Given the description of an element on the screen output the (x, y) to click on. 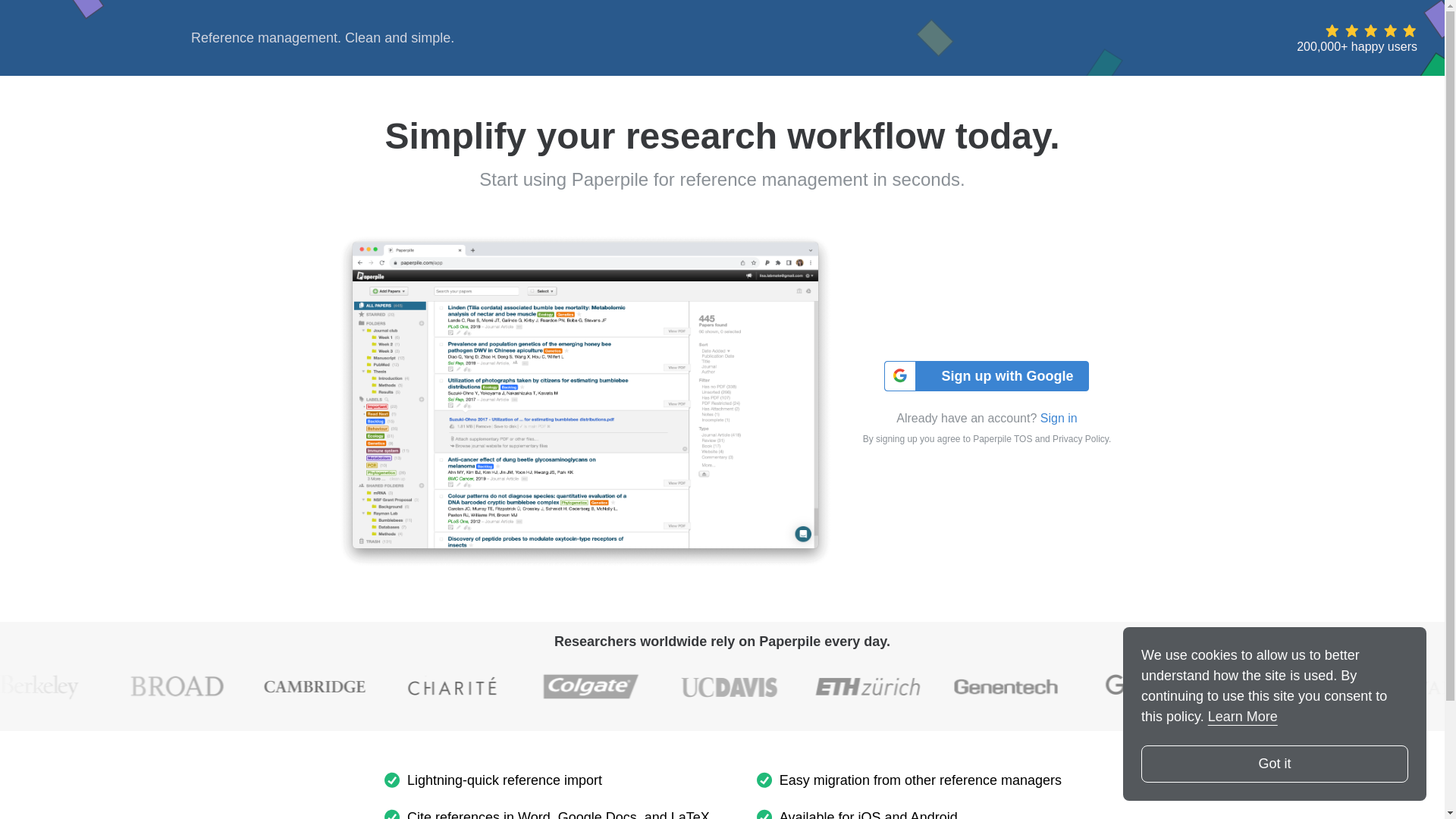
Learn More (1243, 716)
Got it (1274, 763)
Sign up with Google (986, 376)
